Given the description of an element on the screen output the (x, y) to click on. 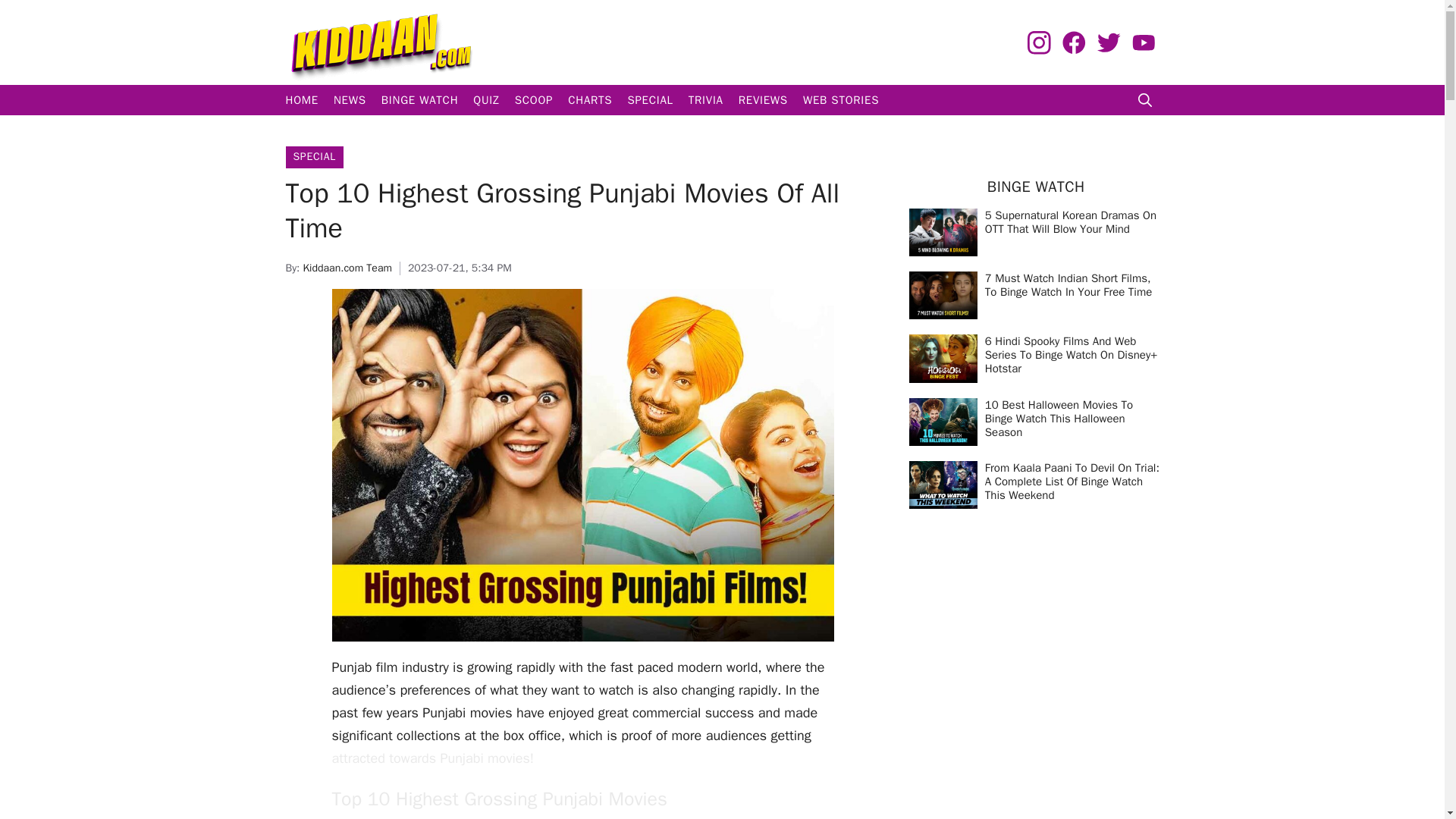
QUIZ (485, 100)
CHARTS (590, 100)
REVIEWS (762, 100)
BINGE WATCH (419, 100)
WEB STORIES (840, 100)
SPECIAL (649, 100)
SCOOP (533, 100)
